Given the description of an element on the screen output the (x, y) to click on. 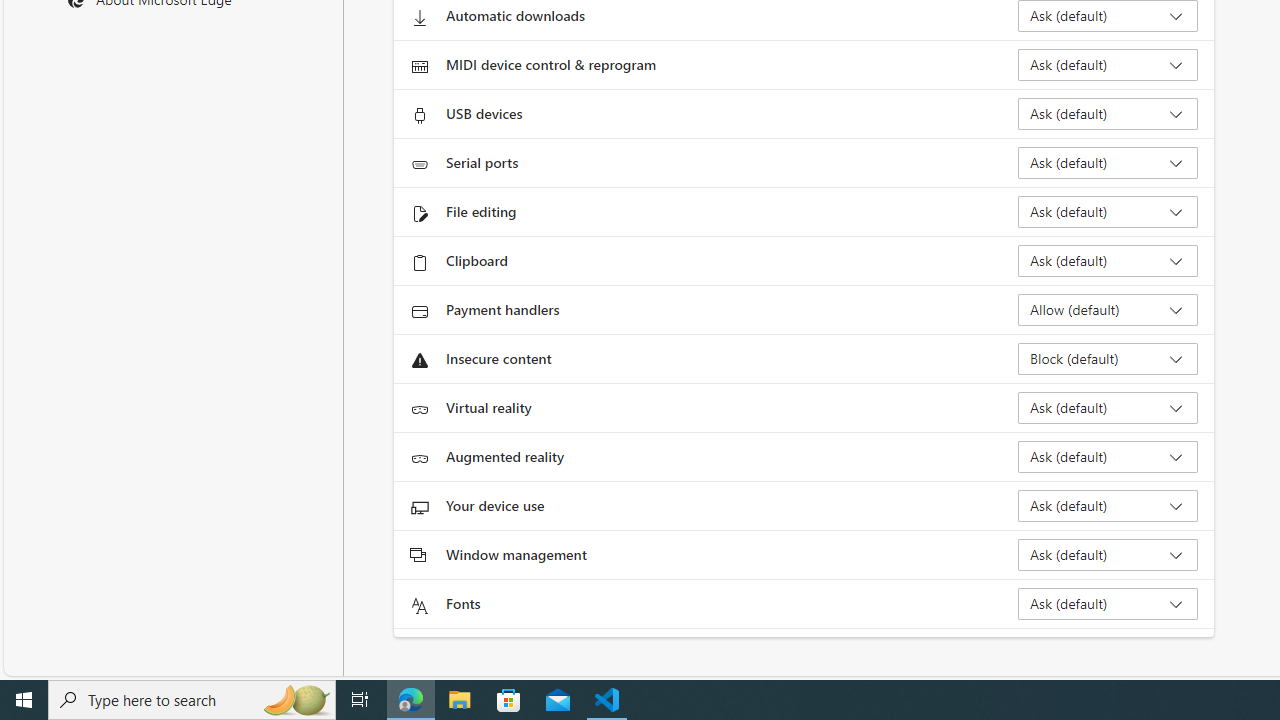
Fonts Ask (default) (1107, 603)
Insecure content Block (default) (1107, 358)
Window management Ask (default) (1107, 554)
Virtual reality Ask (default) (1107, 407)
Clipboard Ask (default) (1107, 260)
Automatic downloads Ask (default) (1107, 15)
USB devices Ask (default) (1107, 113)
Augmented reality Ask (default) (1107, 456)
Your device use Ask (default) (1107, 506)
Serial ports Ask (default) (1107, 162)
Payment handlers Allow (default) (1107, 309)
File editing Ask (default) (1107, 211)
MIDI device control & reprogram Ask (default) (1107, 64)
